Given the description of an element on the screen output the (x, y) to click on. 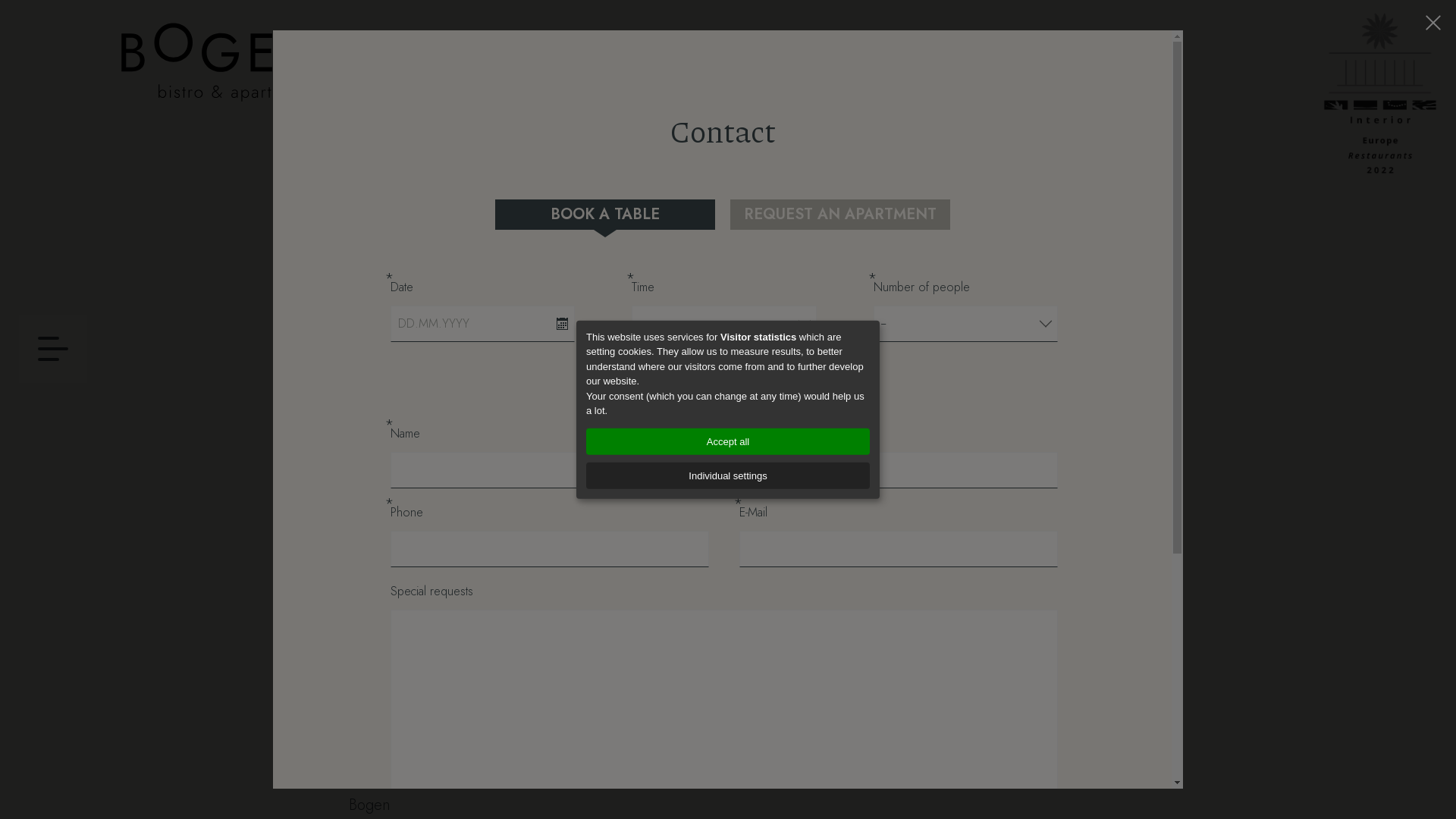
REQUEST AN APARTMENT Element type: text (845, 626)
BOOK A TABLE Element type: text (604, 214)
Bistro & Apartments, Bolzano Element type: text (219, 61)
Accept all Element type: text (727, 440)
Individual settings Element type: text (727, 474)
REQUEST AN APARTMENT Element type: text (839, 214)
BOOK A TABLE Element type: text (610, 626)
